Given the description of an element on the screen output the (x, y) to click on. 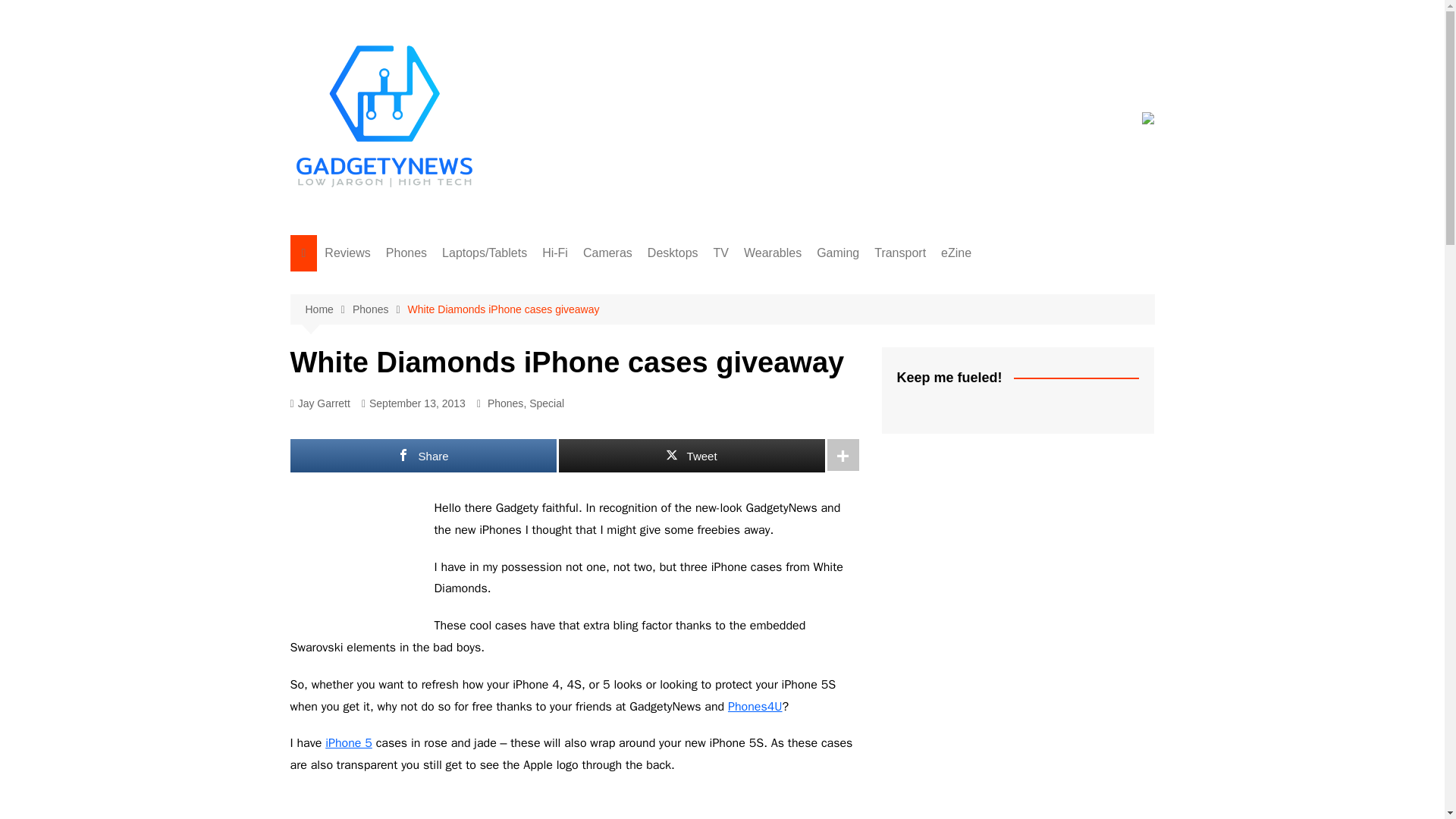
Phones4U (755, 706)
Phones (379, 309)
Home (328, 309)
Hi-Fi (554, 253)
September 13, 2013 (413, 403)
Cameras (607, 253)
Tweet (690, 455)
Transport (899, 253)
Reviews (347, 253)
eZine (955, 253)
Phones (405, 253)
iPhone 5 (348, 743)
TV (721, 253)
Desktops (673, 253)
Wearables (772, 253)
